Given the description of an element on the screen output the (x, y) to click on. 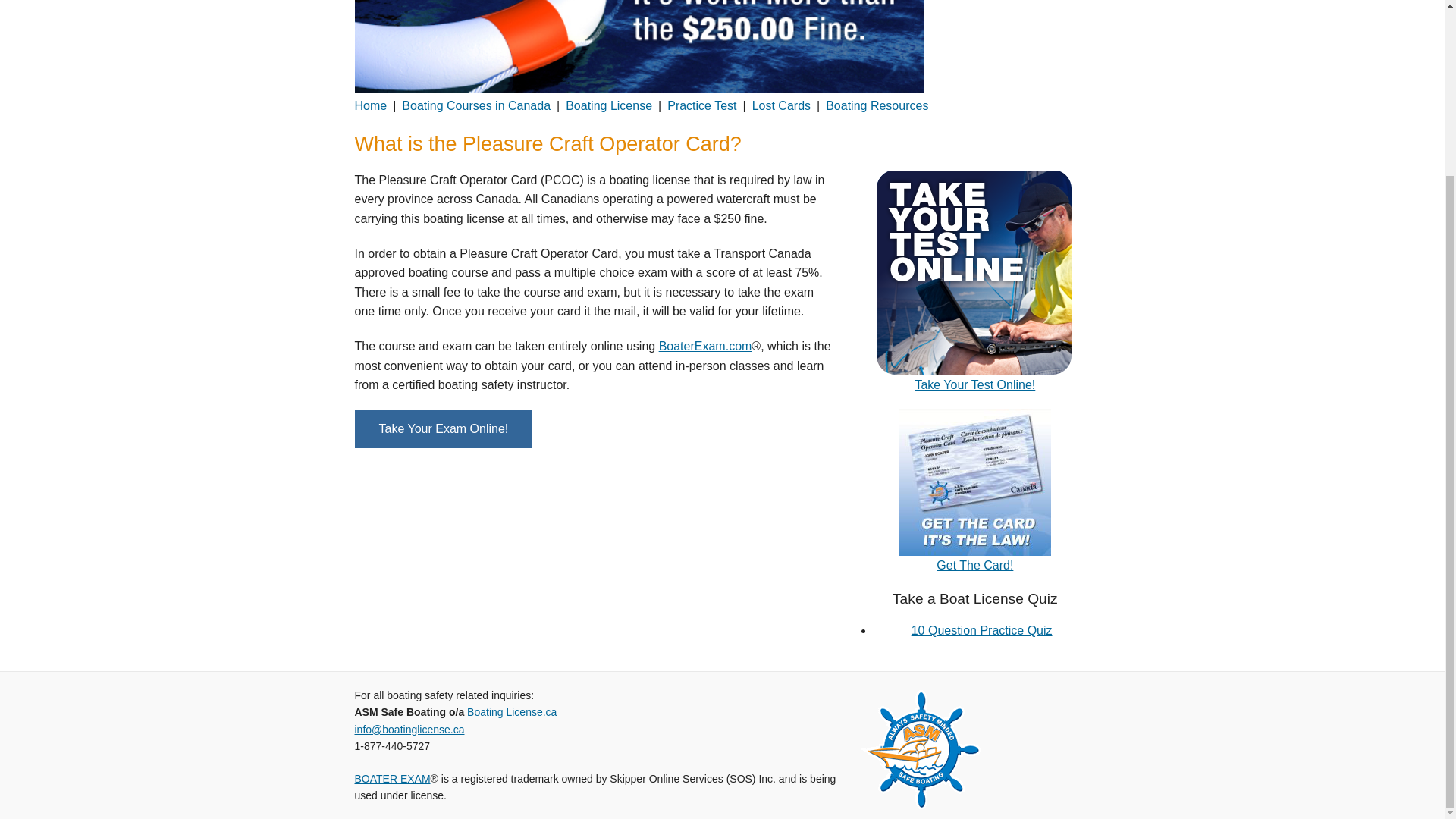
Practice Test (701, 106)
Home (371, 106)
Boating License (609, 106)
Take Your Exam Online! (443, 428)
Boating Courses in Canada (475, 106)
Lost Cards (781, 106)
10 Question Practice Quiz (981, 630)
BoaterExam.com (705, 345)
Take Your Test Online! (974, 384)
Boating License.ca (511, 711)
Boating Resources (876, 106)
Get The Card! (974, 564)
BOATER EXAM (392, 778)
